Given the description of an element on the screen output the (x, y) to click on. 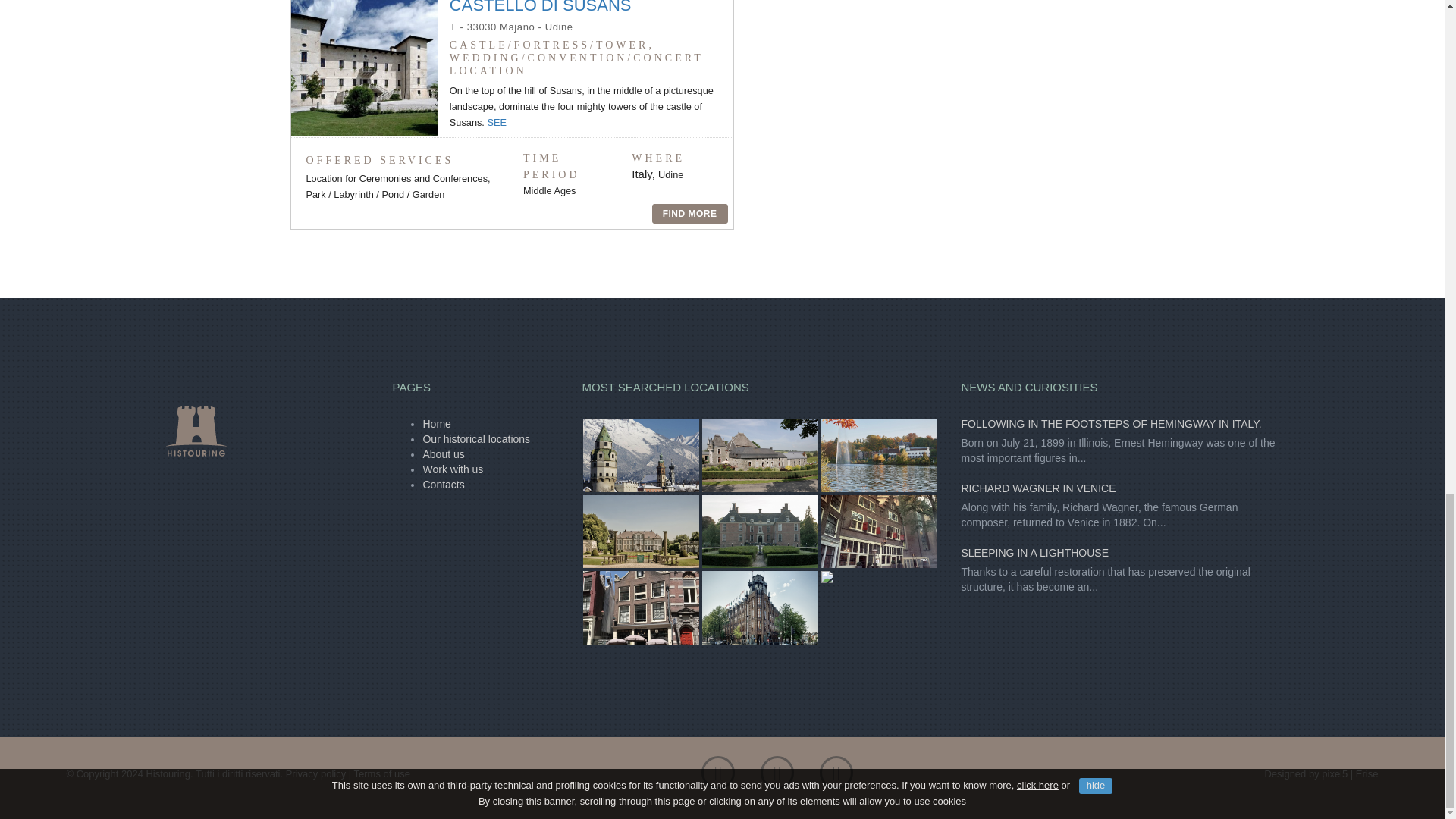
FIND MORE (690, 213)
Terms of use (381, 773)
SLEEPING IN A LIGHTHOUSE (1034, 552)
Vai su Amazon (836, 776)
Contacts (443, 484)
RICHARD WAGNER IN VENICE (1037, 488)
SEE (496, 122)
Work with us (452, 469)
Privacy policy (315, 773)
Home (435, 423)
